Given the description of an element on the screen output the (x, y) to click on. 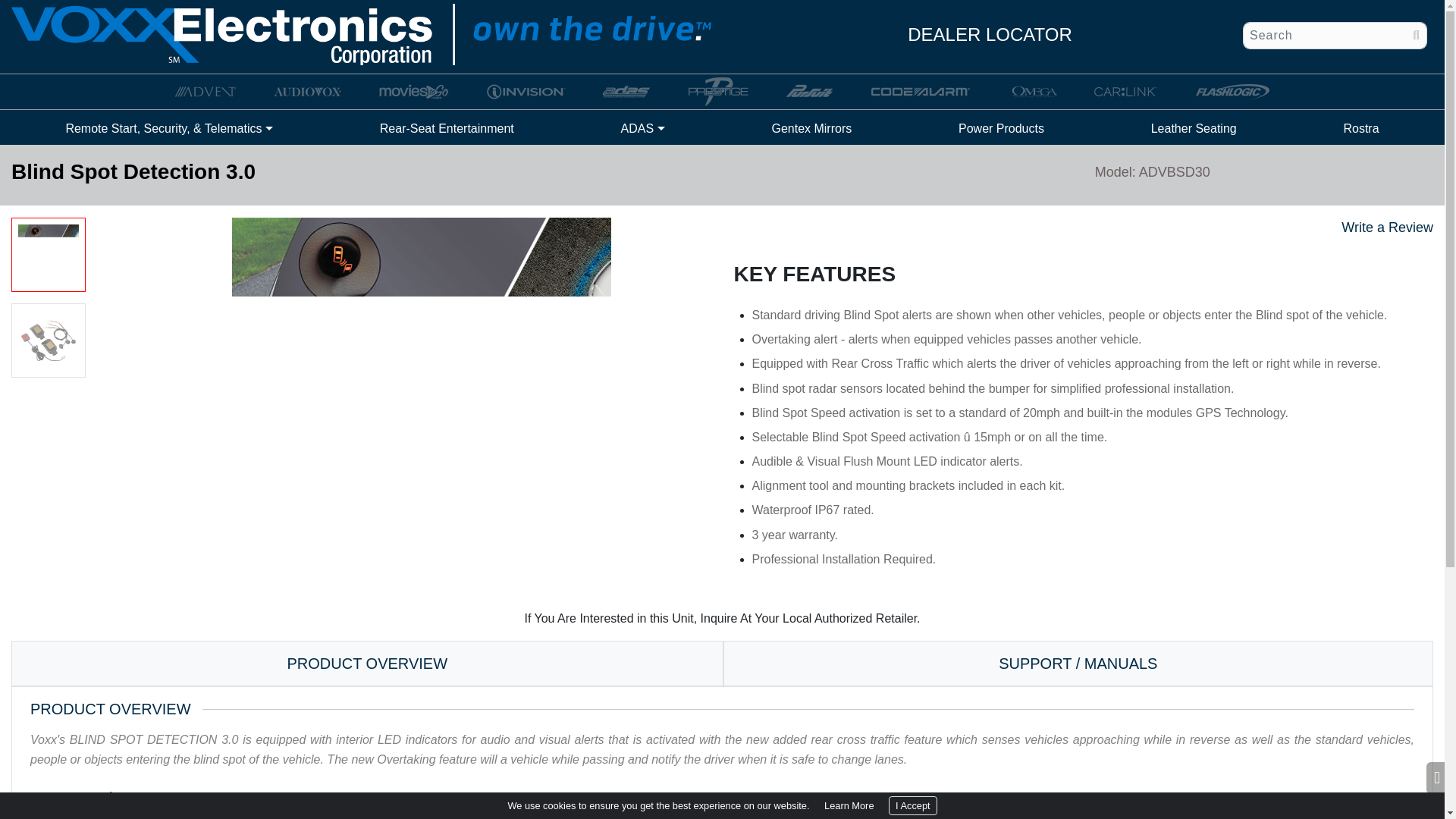
ADAS (642, 128)
Gentex Mirrors (811, 128)
Rear-Seat Entertainment (446, 128)
DEALER LOCATOR (989, 34)
VOXX Electronics (361, 32)
ADAS (642, 128)
Write a Review (1386, 227)
Power Products (1000, 128)
PRODUCT OVERVIEW (366, 663)
Dealer Locator (989, 34)
